Given the description of an element on the screen output the (x, y) to click on. 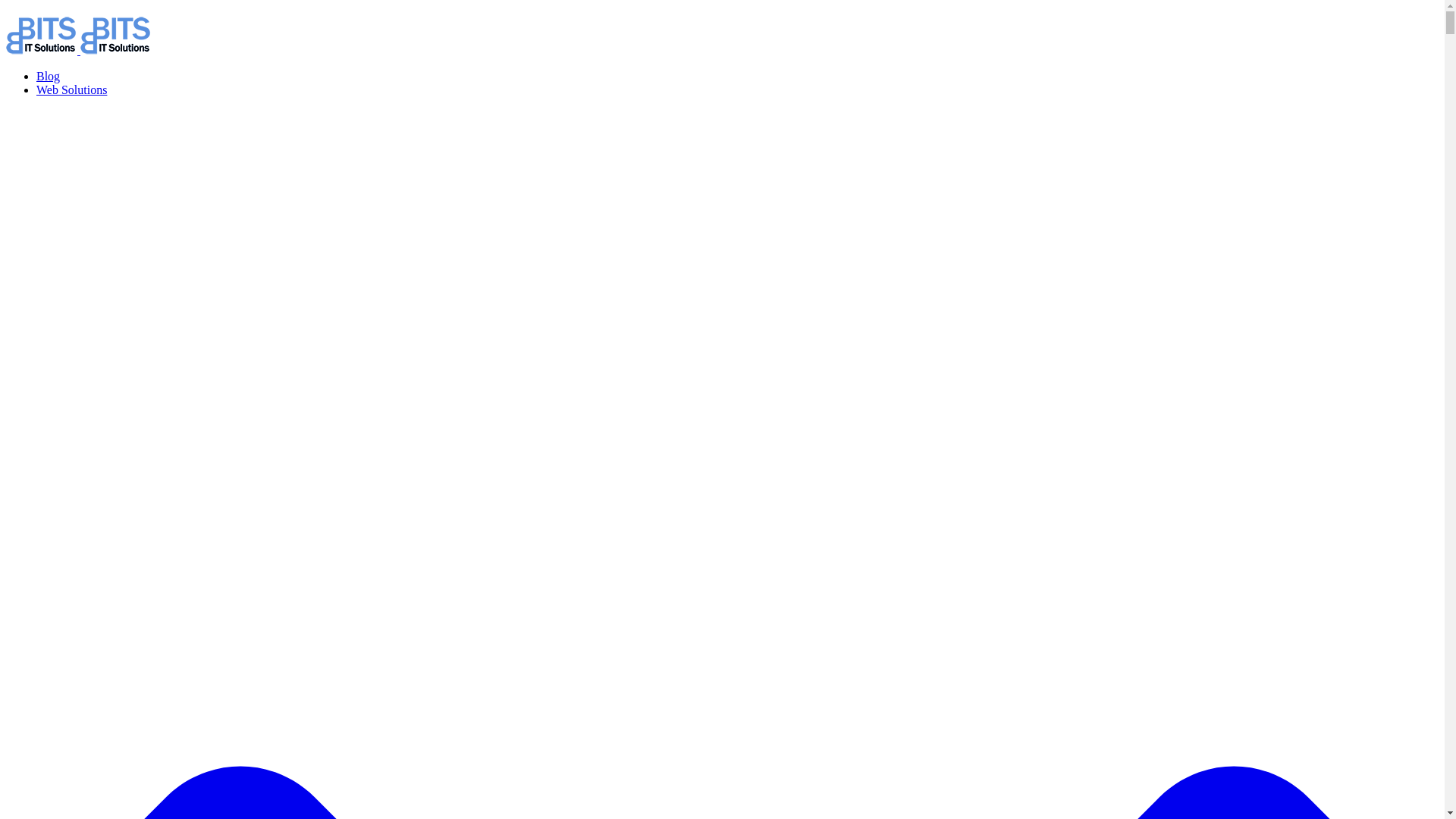
Blog Element type: text (47, 75)
Ga naar de inhoud Element type: text (5, 5)
